Given the description of an element on the screen output the (x, y) to click on. 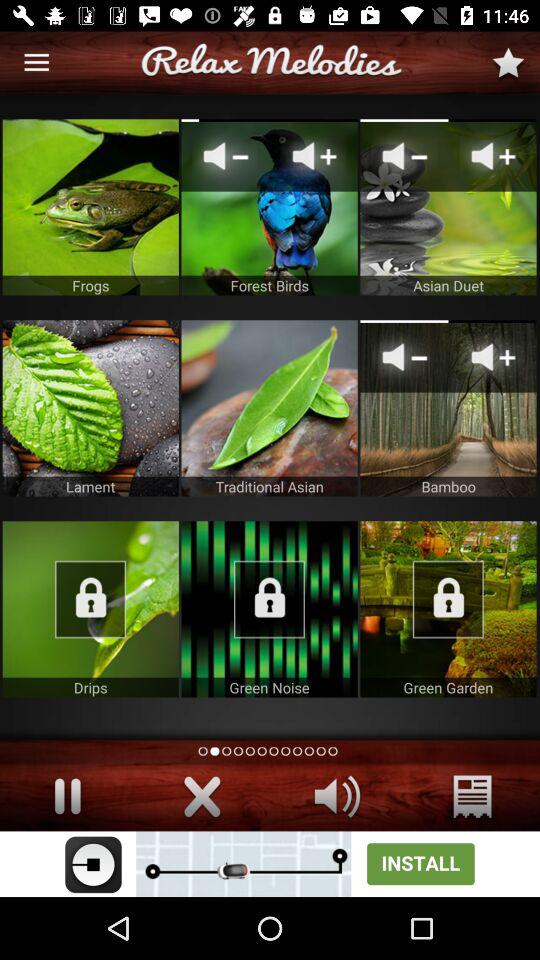
click to sound option (337, 796)
